Given the description of an element on the screen output the (x, y) to click on. 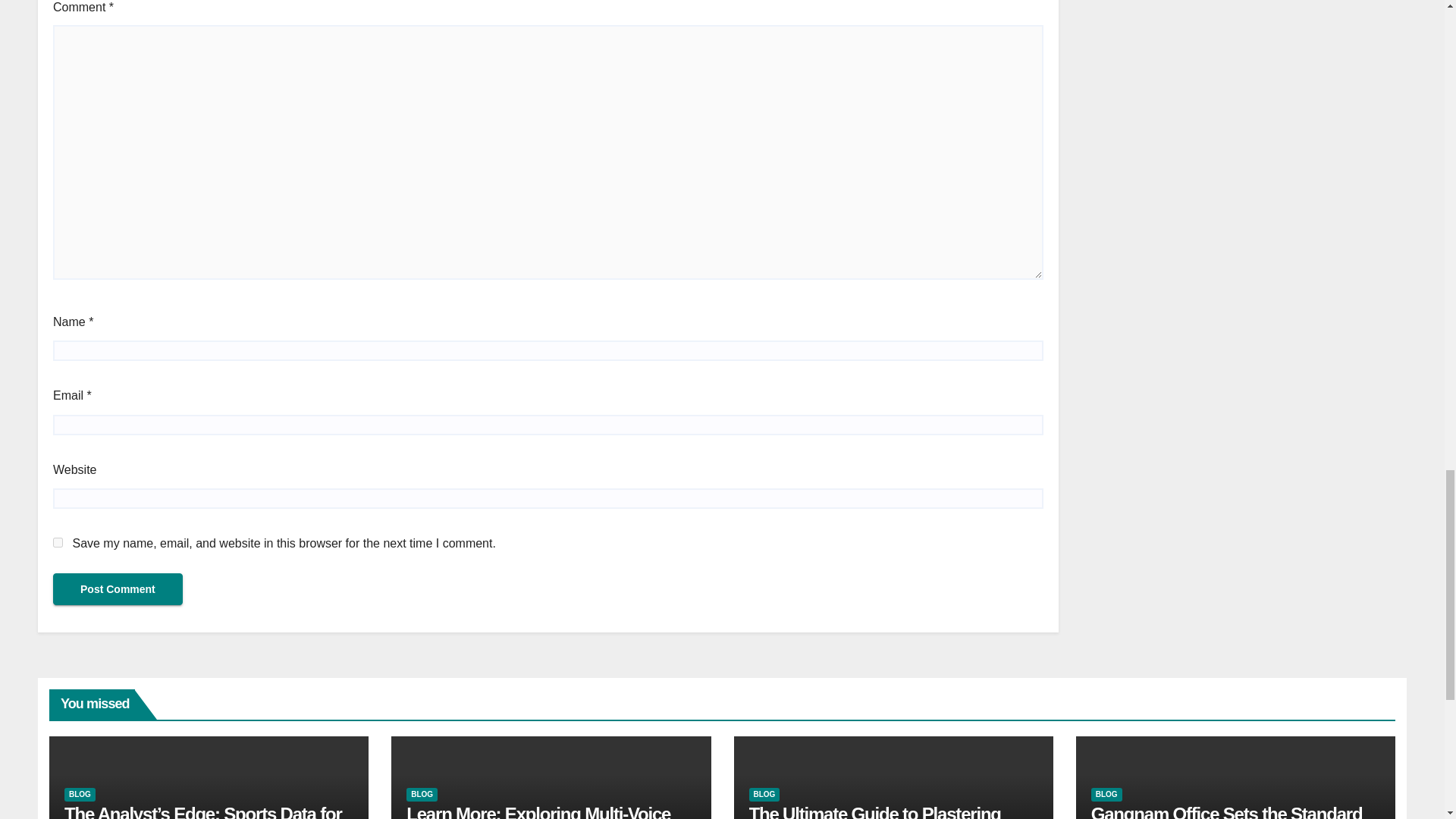
Post Comment (117, 589)
yes (57, 542)
Permalink to: The Ultimate Guide to Plastering Your Walls (875, 811)
